Given the description of an element on the screen output the (x, y) to click on. 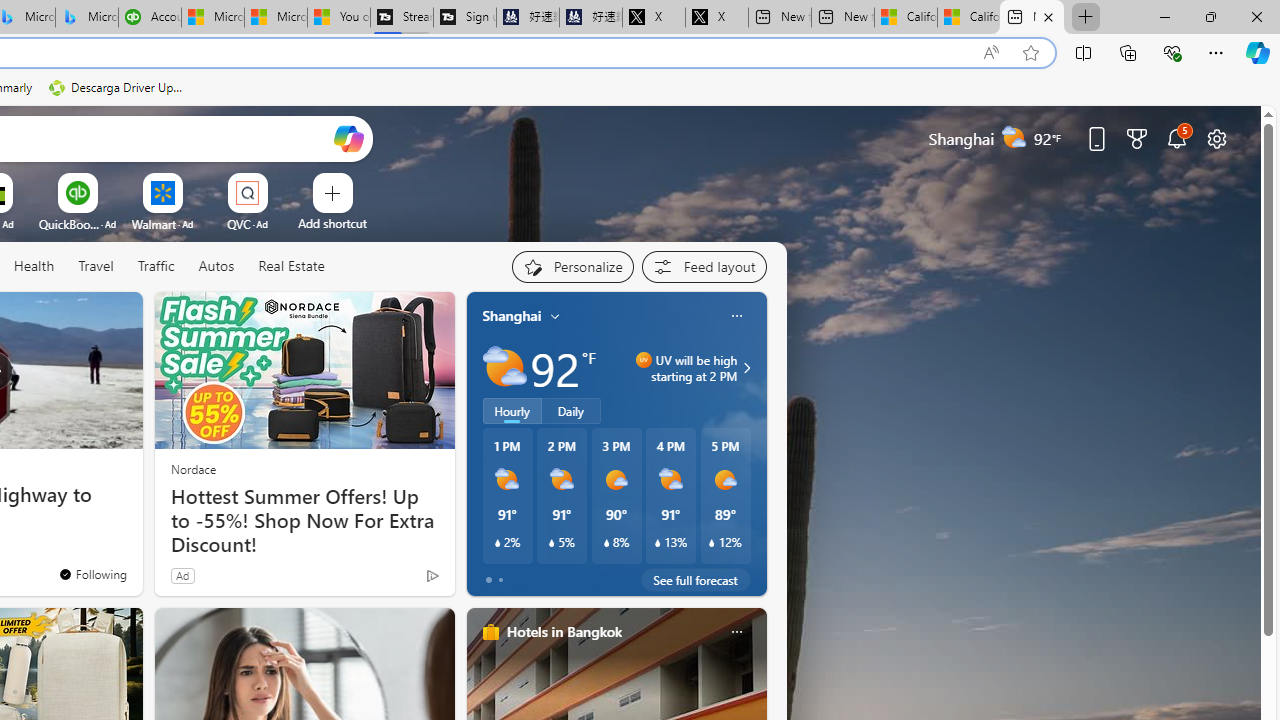
My location (555, 315)
Class: weather-arrow-glyph (746, 367)
Shanghai (511, 315)
Partly sunny (504, 368)
You're following MSNBC (92, 573)
